Given the description of an element on the screen output the (x, y) to click on. 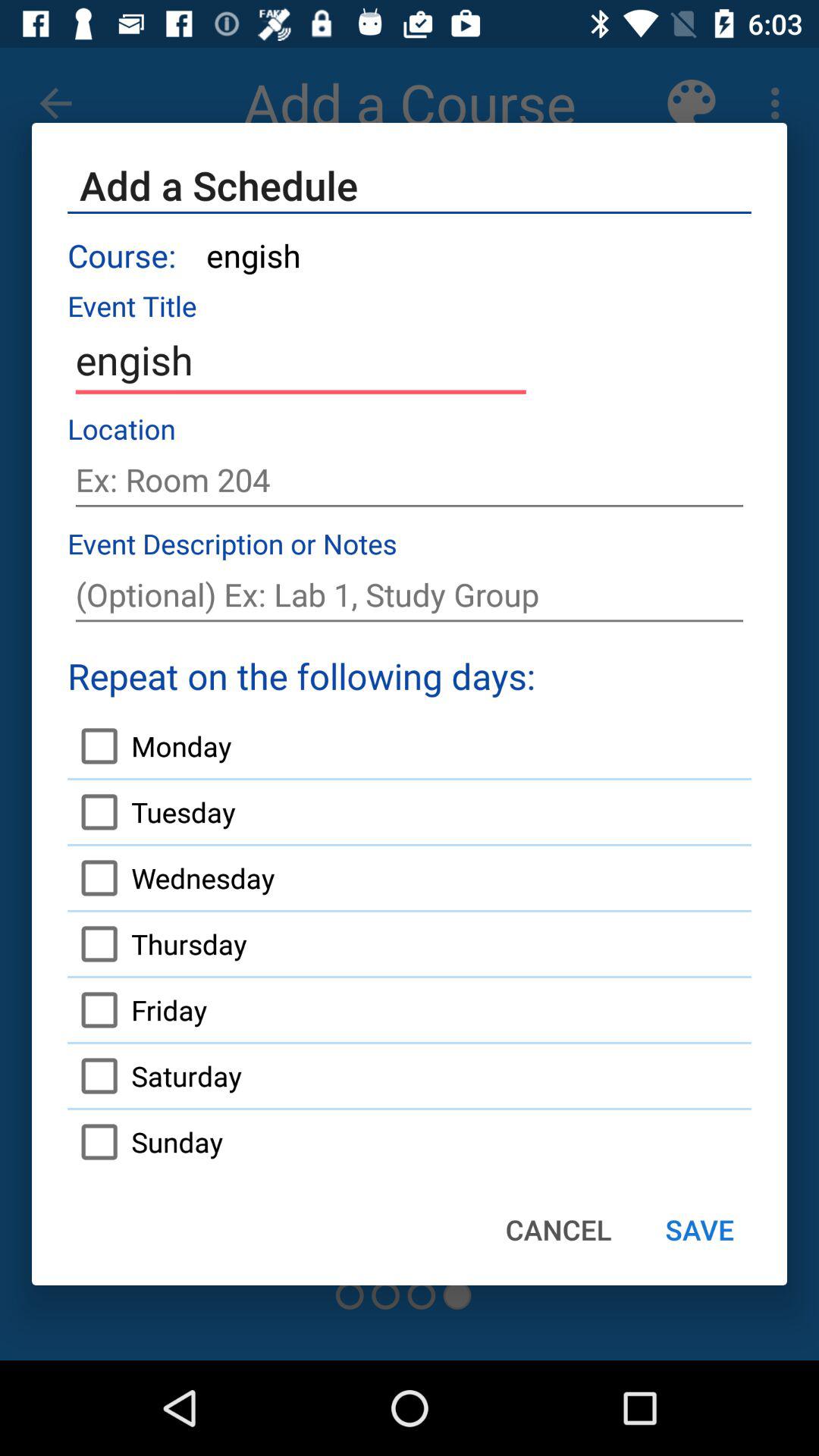
launch item to the right of sunday icon (558, 1229)
